Given the description of an element on the screen output the (x, y) to click on. 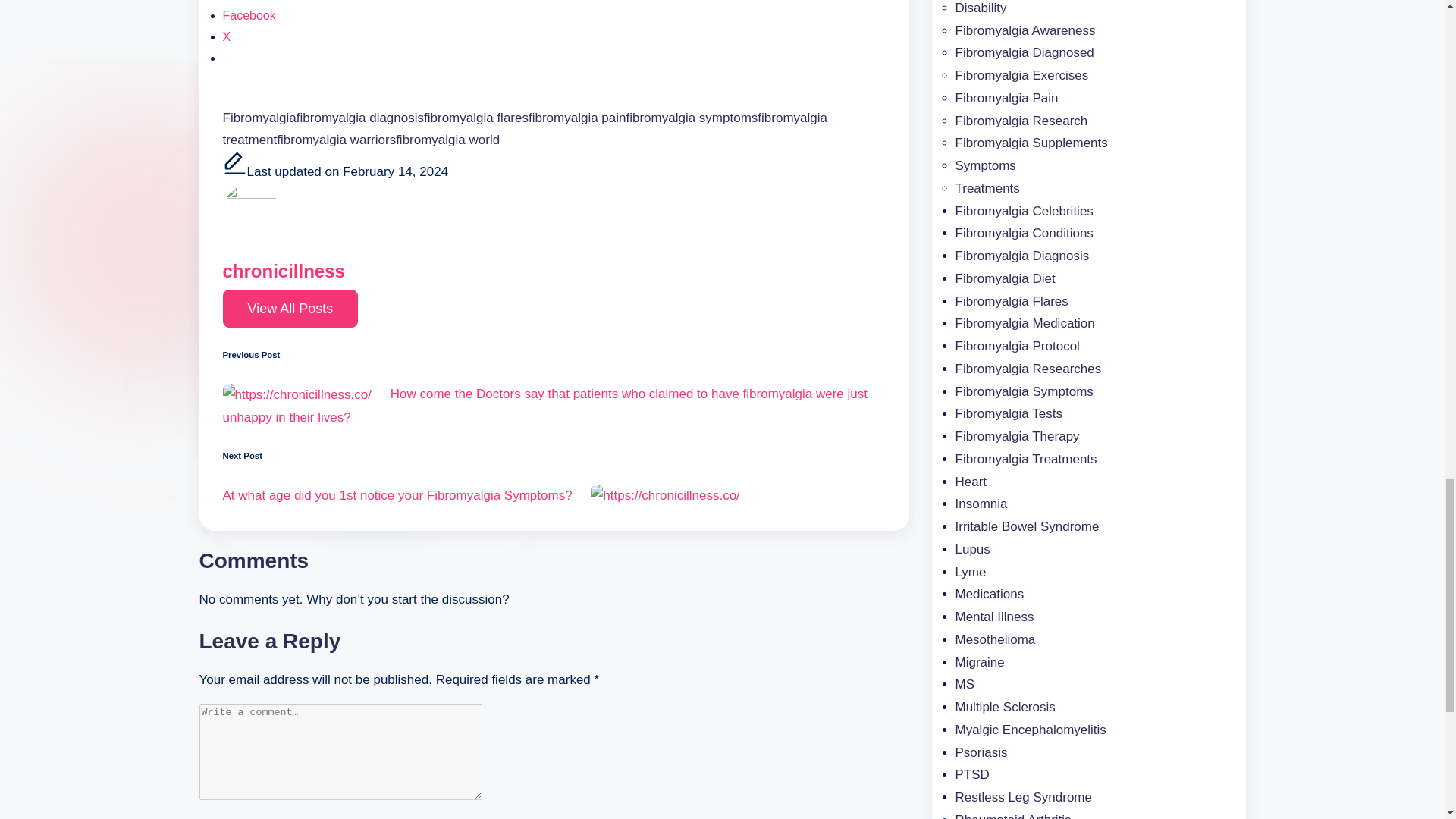
Click to share on Facebook (249, 15)
